Given the description of an element on the screen output the (x, y) to click on. 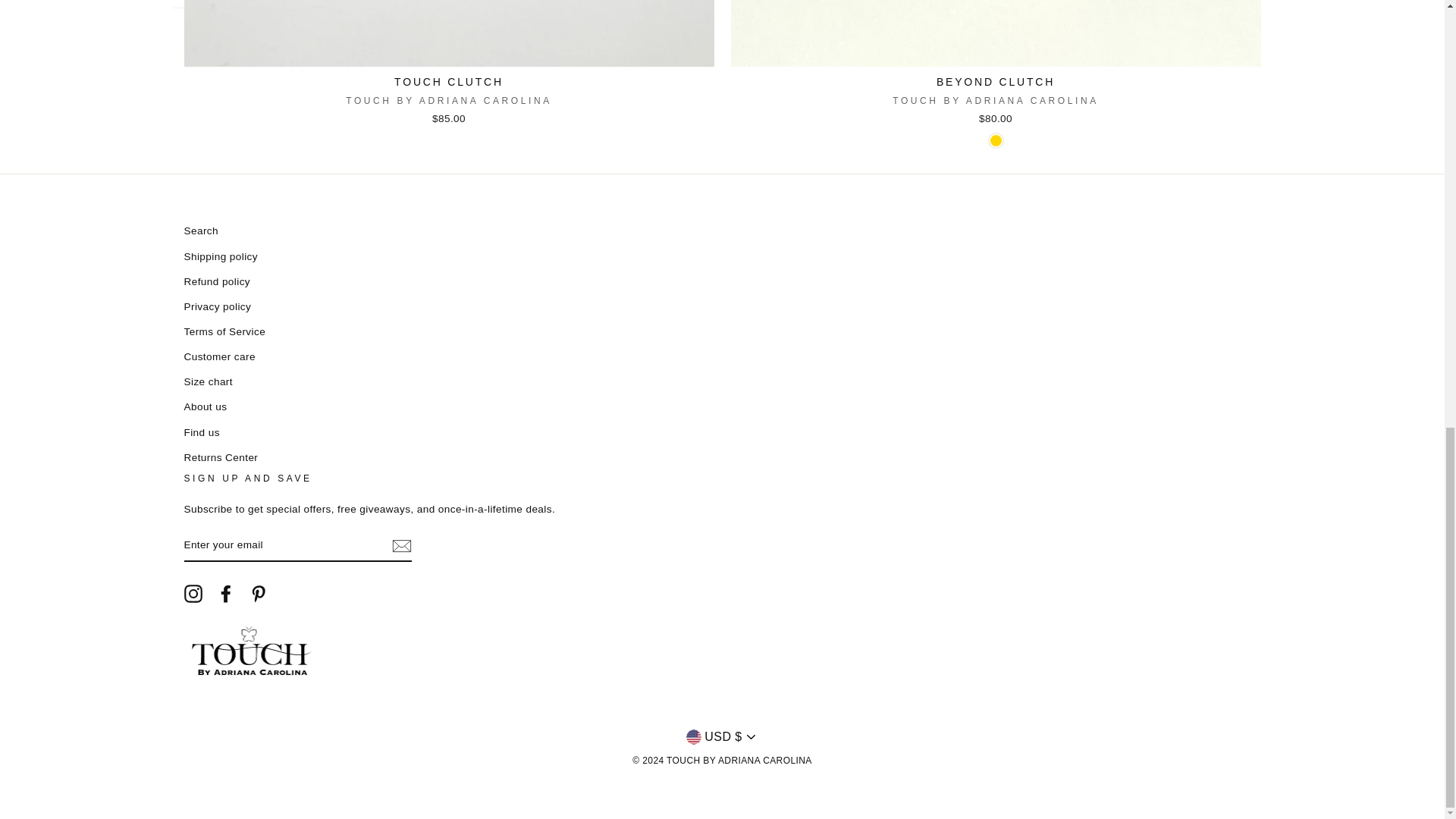
TOUCH BY ADRIANA CAROLINA on Pinterest (257, 593)
TOUCH BY ADRIANA CAROLINA on Instagram (192, 593)
TOUCH BY ADRIANA CAROLINA on Facebook (225, 593)
